Given the description of an element on the screen output the (x, y) to click on. 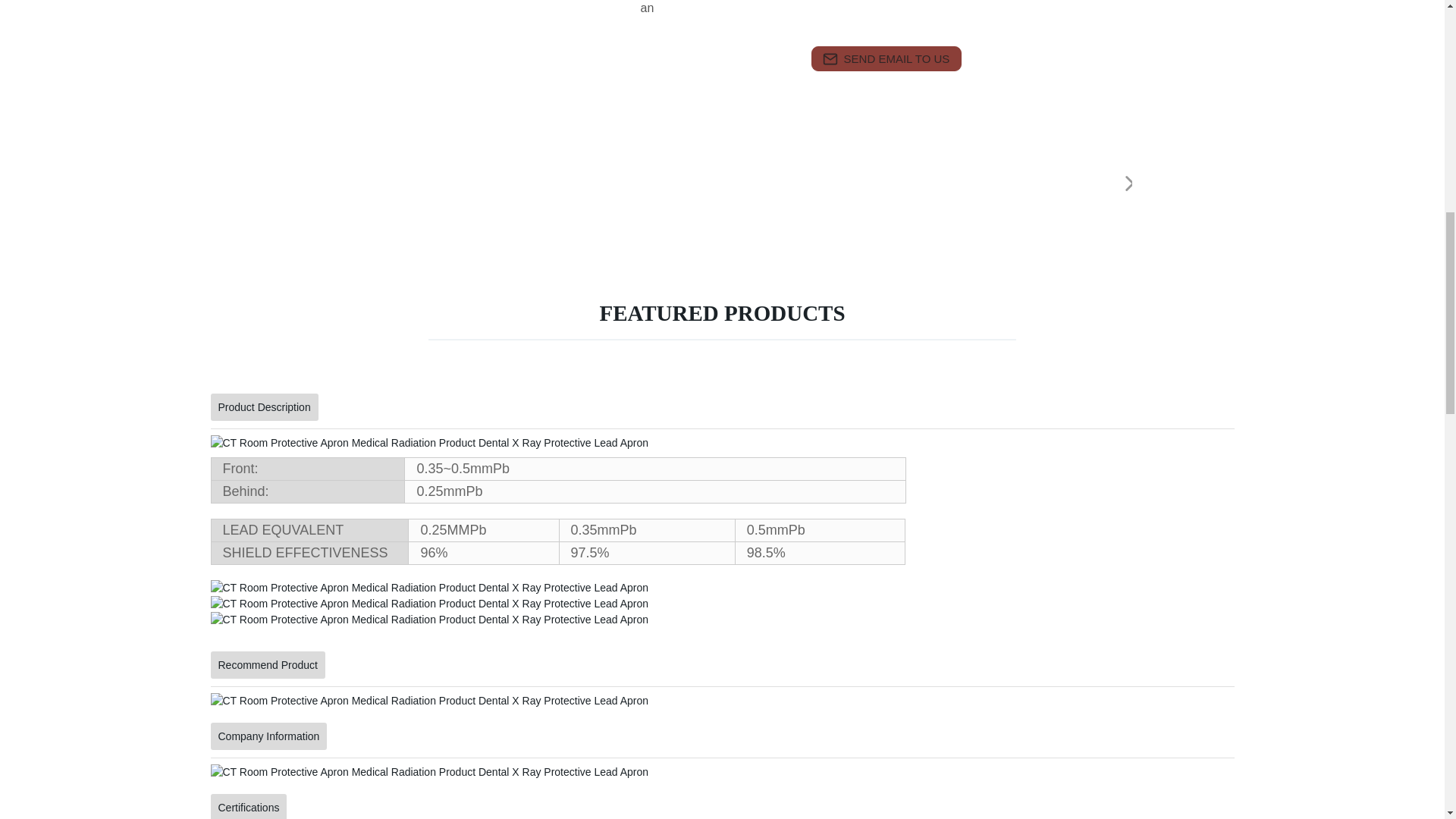
SEND EMAIL TO US (885, 58)
